Given the description of an element on the screen output the (x, y) to click on. 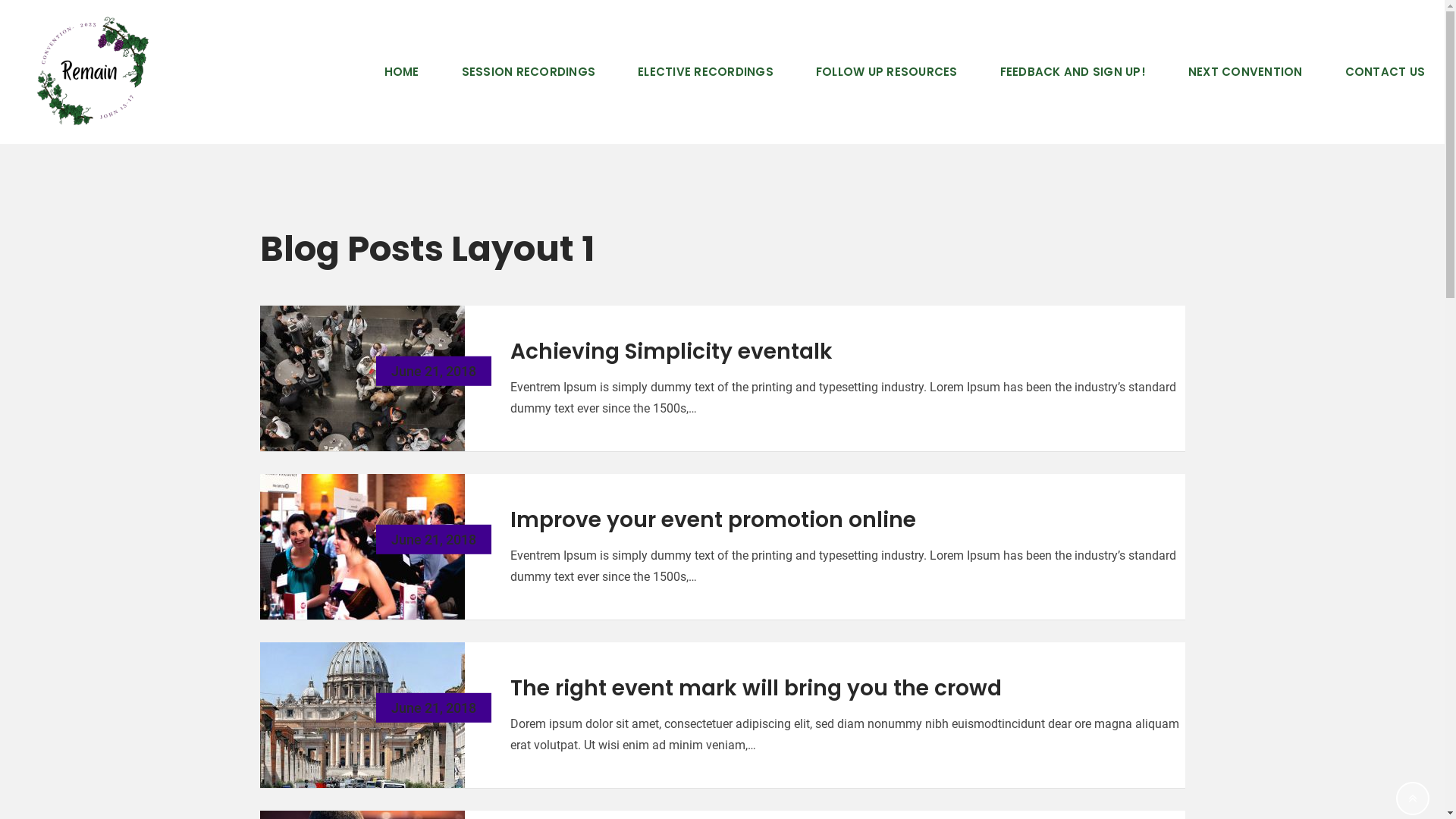
Achieving Simplicity eventalk Element type: text (670, 351)
SESSION RECORDINGS Element type: text (528, 71)
CONTACT US Element type: text (1385, 71)
The right event mark will bring you the crowd Element type: text (755, 687)
Improve your event promotion online Element type: text (712, 519)
ELECTIVE RECORDINGS Element type: text (705, 71)
FOLLOW UP RESOURCES Element type: text (886, 71)
HOME Element type: text (401, 71)
FEEDBACK AND SIGN UP! Element type: text (1071, 71)
NEXT CONVENTION Element type: text (1245, 71)
